Given the description of an element on the screen output the (x, y) to click on. 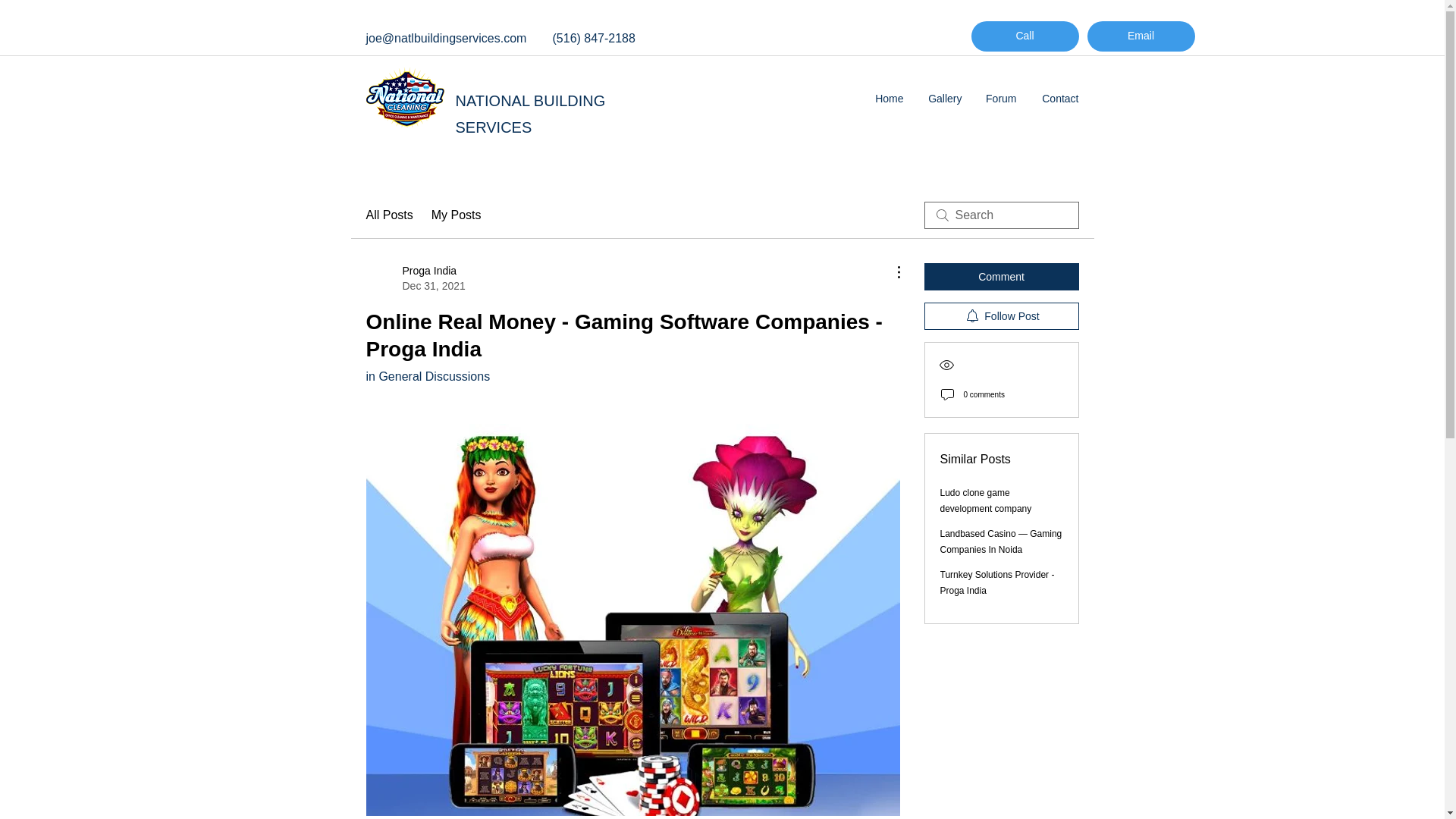
My Posts (455, 215)
Email (1141, 36)
long-island-office-cleaning.png (404, 97)
in General Discussions (427, 376)
Follow Post (1000, 316)
Ludo clone game development company (986, 500)
Call (1024, 36)
Forum (1000, 98)
Gallery (943, 98)
Home (889, 98)
Contact (1058, 98)
All Posts (388, 215)
Comment (1000, 276)
Turnkey Solutions Provider - Proga India (997, 582)
